Given the description of an element on the screen output the (x, y) to click on. 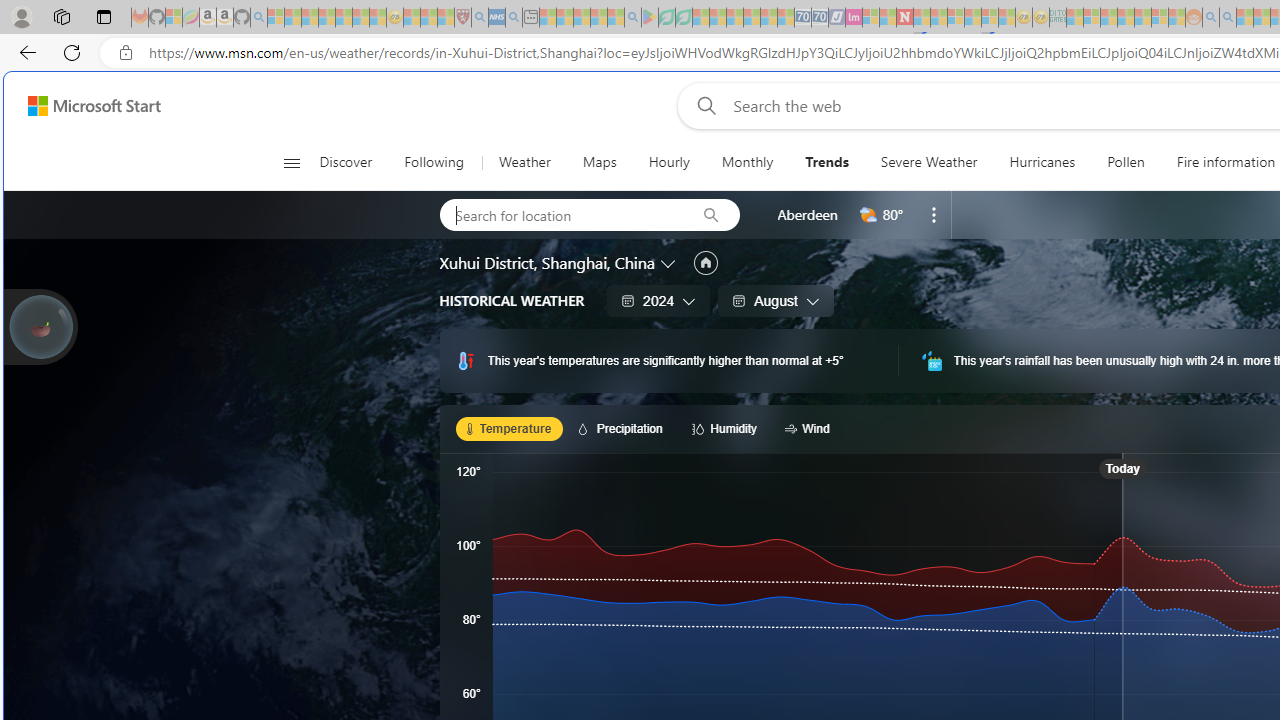
Change location (669, 262)
Humidity (727, 428)
Pollen (1125, 162)
Maps (599, 162)
Wind (809, 428)
